Given the description of an element on the screen output the (x, y) to click on. 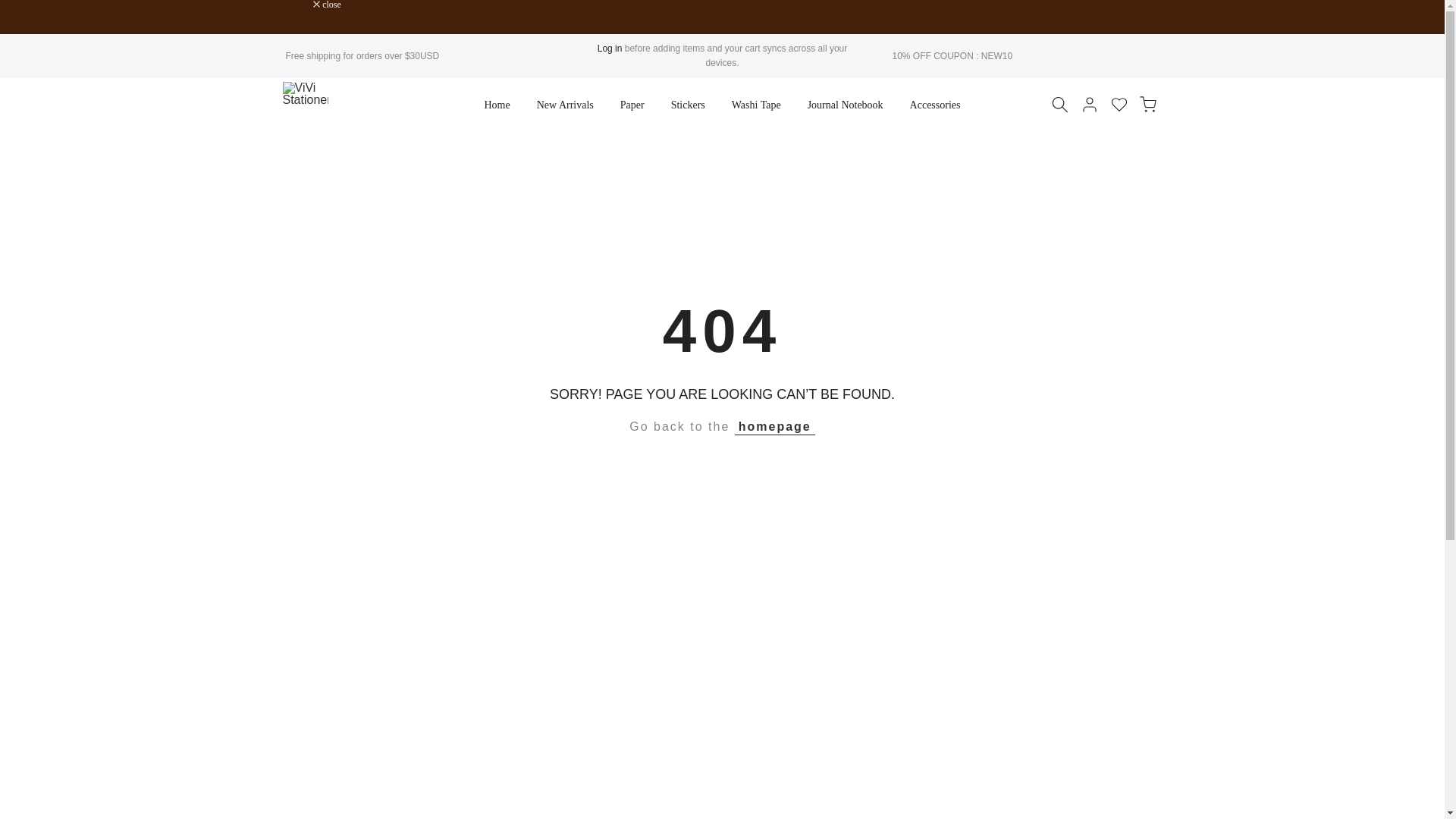
Home (496, 105)
Skip to content (10, 7)
Paper (632, 105)
homepage (775, 426)
Log in (609, 48)
Washi Tape (755, 105)
Stickers (687, 105)
New Arrivals (564, 105)
close (326, 4)
Journal Notebook (844, 105)
Log in your account (609, 48)
Accessories (935, 105)
